Given the description of an element on the screen output the (x, y) to click on. 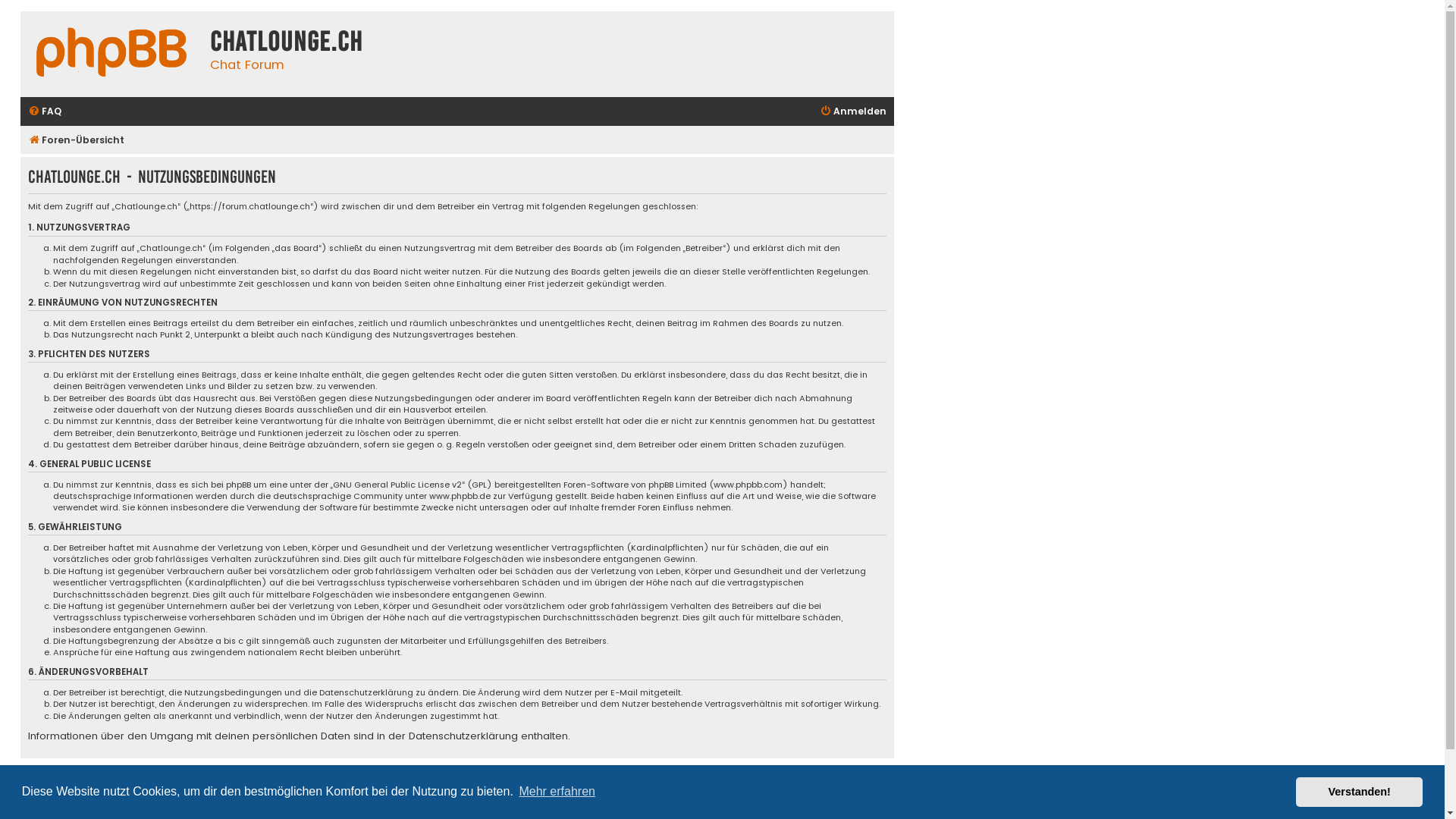
Ian Bradley Element type: text (863, 808)
Kontakt Element type: text (733, 780)
Mehr erfahren Element type: text (556, 791)
Anmelden Element type: text (852, 111)
GNU General Public License v2 Element type: text (396, 484)
Verstanden! Element type: text (1358, 791)
FAQ Element type: text (44, 111)
